Given the description of an element on the screen output the (x, y) to click on. 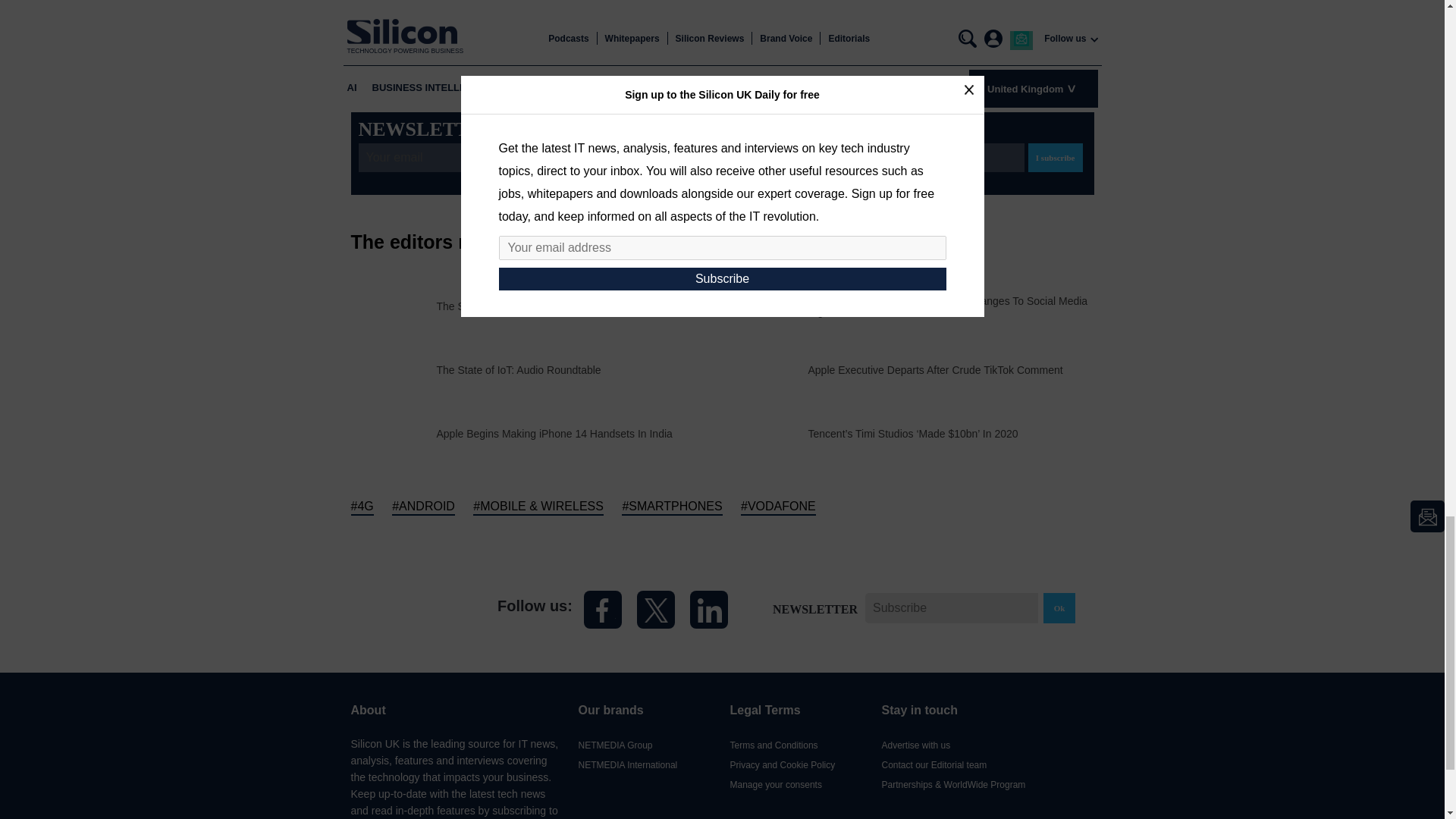
Apple Begins Making iPhone 14 Handsets In India (554, 433)
477497Vodafone Launches Super-Powered Budget Smartphone (393, 431)
550564Vodafone Launches Super-Powered Budget Smartphone (393, 305)
520199Vodafone Launches Super-Powered Budget Smartphone (764, 305)
Apple Executive Departs After Crude TikTok Comment (935, 369)
The State of IoT: Audio Roundtable (518, 369)
478332Vodafone Launches Super-Powered Budget Smartphone (764, 368)
479969Vodafone Launches Super-Powered Budget Smartphone (393, 368)
The State of M-Commerce 2024 (512, 306)
